Given the description of an element on the screen output the (x, y) to click on. 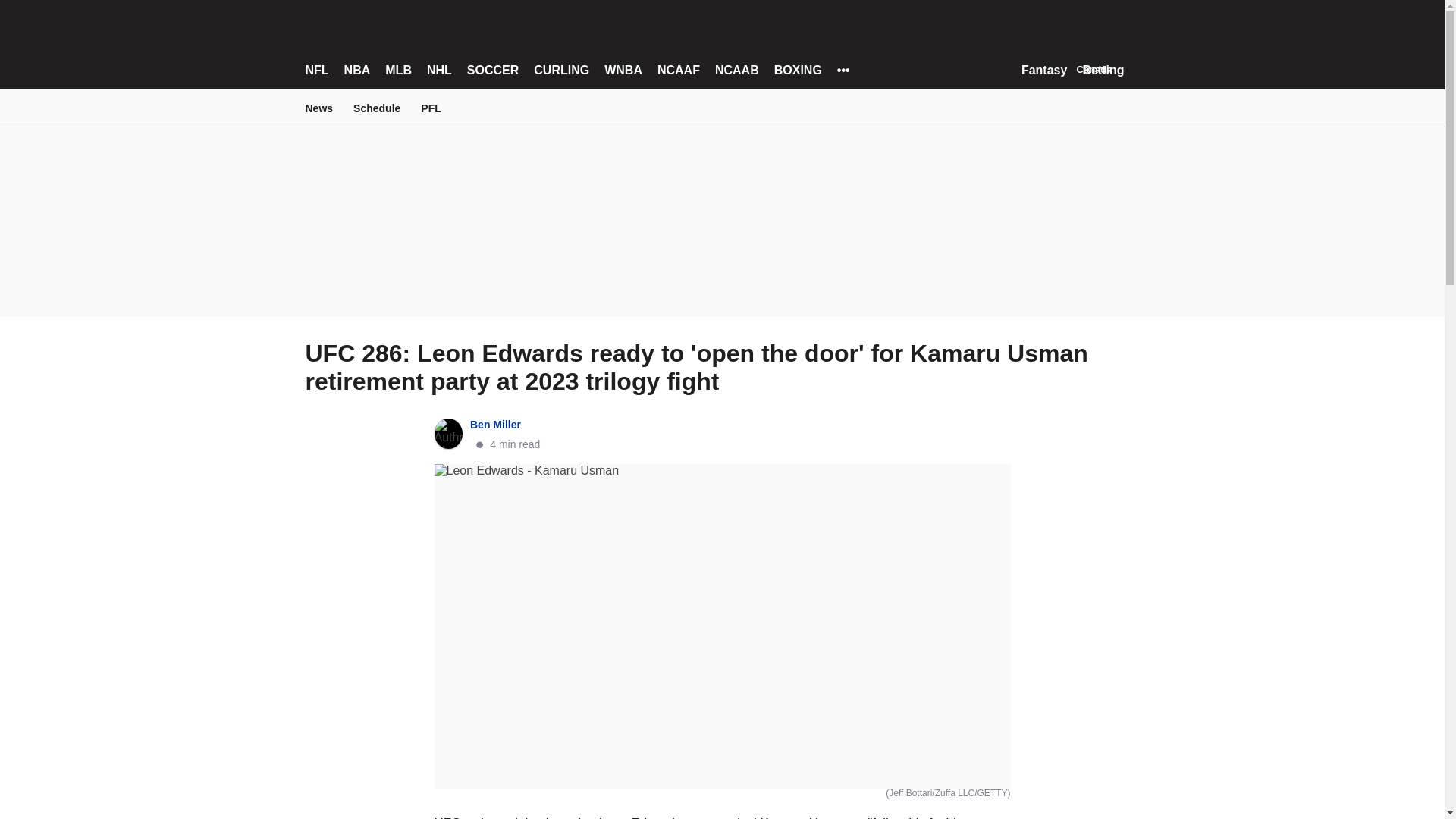
CURLING (561, 70)
SOCCER (492, 70)
BOXING (798, 70)
NCAAB (736, 70)
WNBA (623, 70)
NCAAF (679, 70)
